Given the description of an element on the screen output the (x, y) to click on. 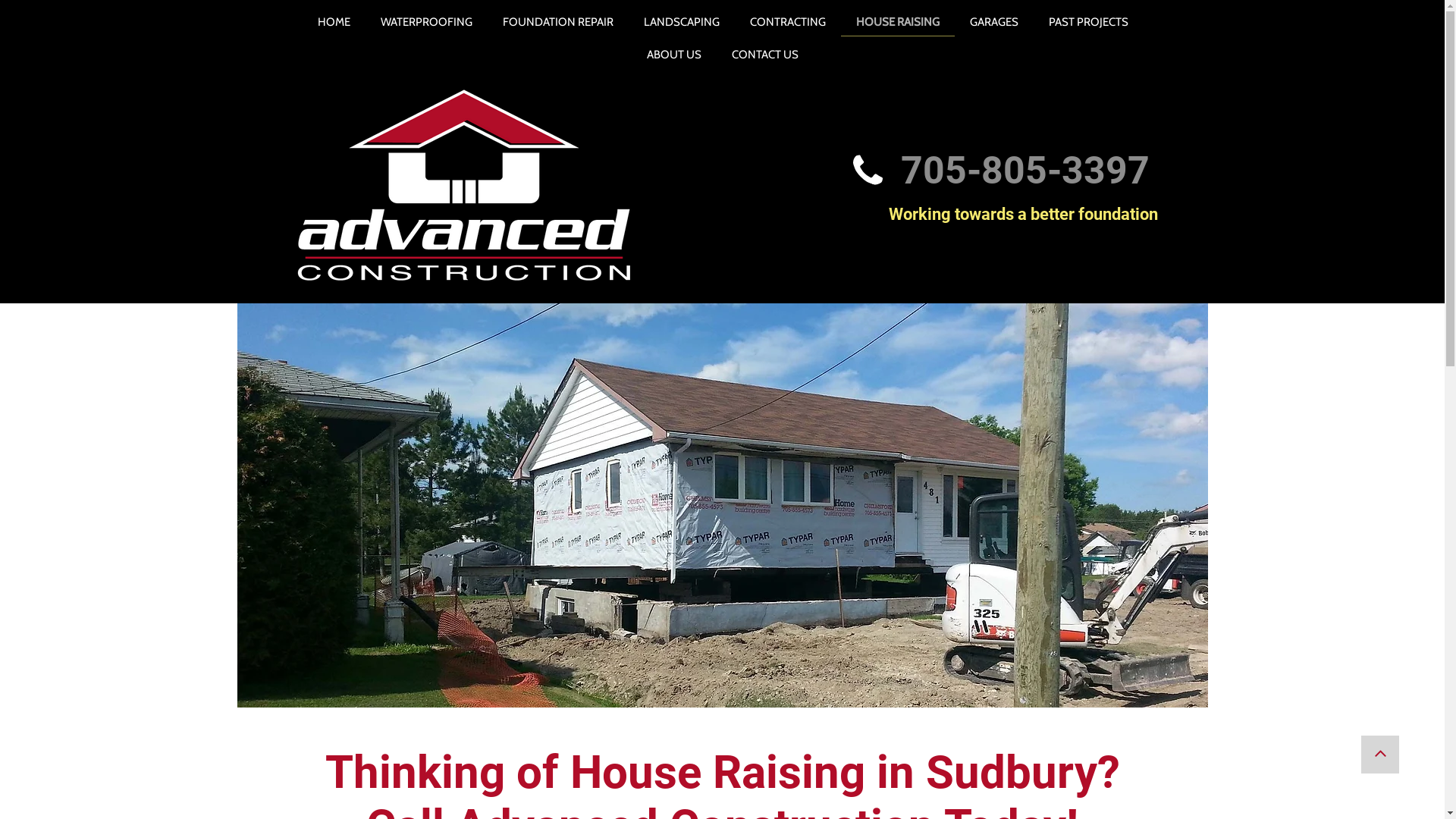
CONTRACTING Element type: text (787, 19)
FOUNDATION REPAIR Element type: text (556, 19)
LANDSCAPING Element type: text (680, 19)
705-805-3397 Element type: text (1024, 180)
WATERPROOFING Element type: text (426, 19)
GARAGES Element type: text (992, 19)
PAST PROJECTS Element type: text (1087, 19)
ABOUT US Element type: text (673, 52)
CONTACT US Element type: text (764, 52)
HOME Element type: text (332, 19)
HOUSE RAISING Element type: text (896, 19)
